Given the description of an element on the screen output the (x, y) to click on. 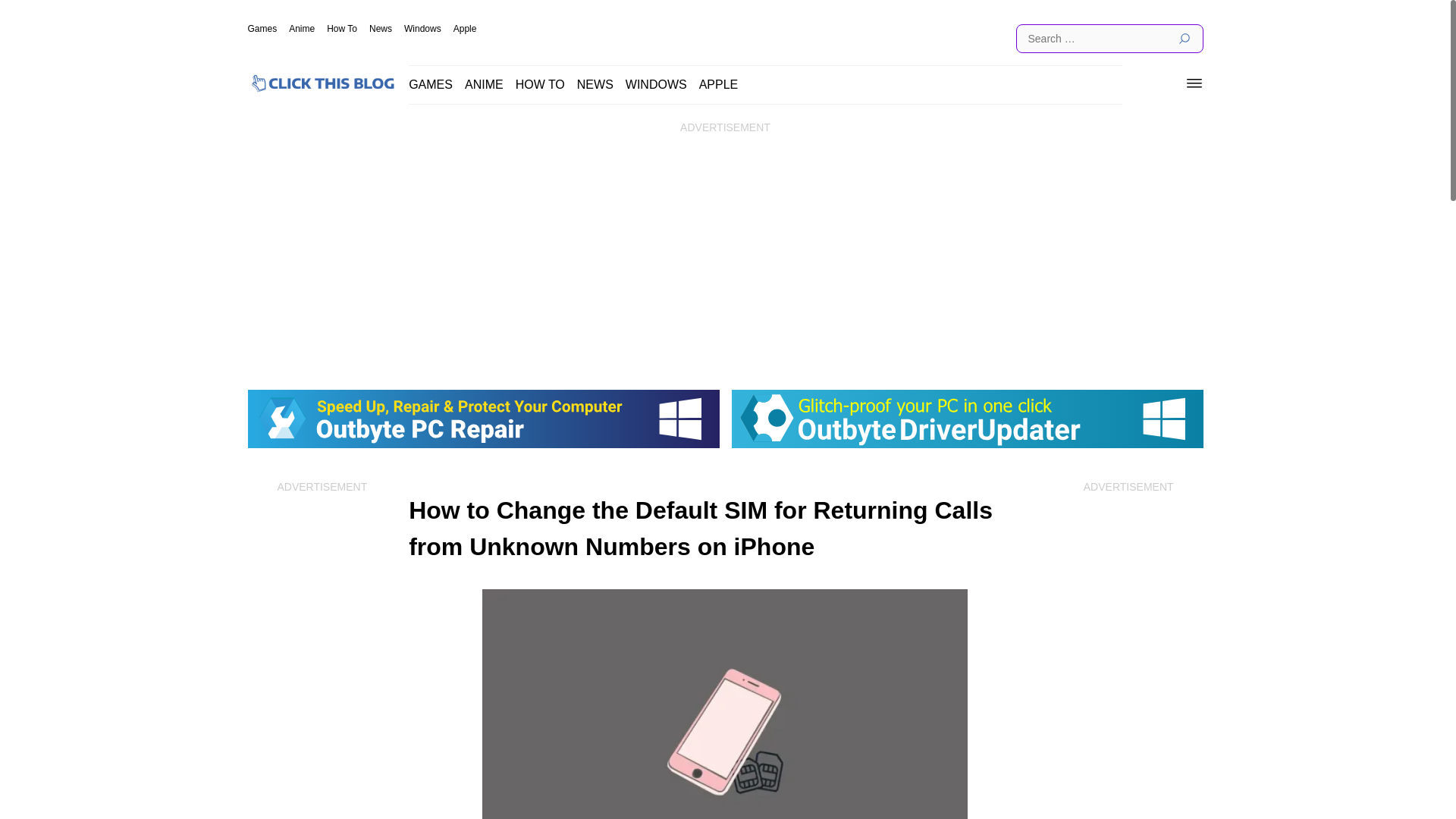
WINDOWS (656, 83)
Apple (464, 28)
GAMES (430, 83)
How To (341, 28)
NEWS (594, 83)
HOW TO (539, 83)
ANIME (483, 83)
Anime (301, 28)
Windows (422, 28)
Games (261, 28)
